Given the description of an element on the screen output the (x, y) to click on. 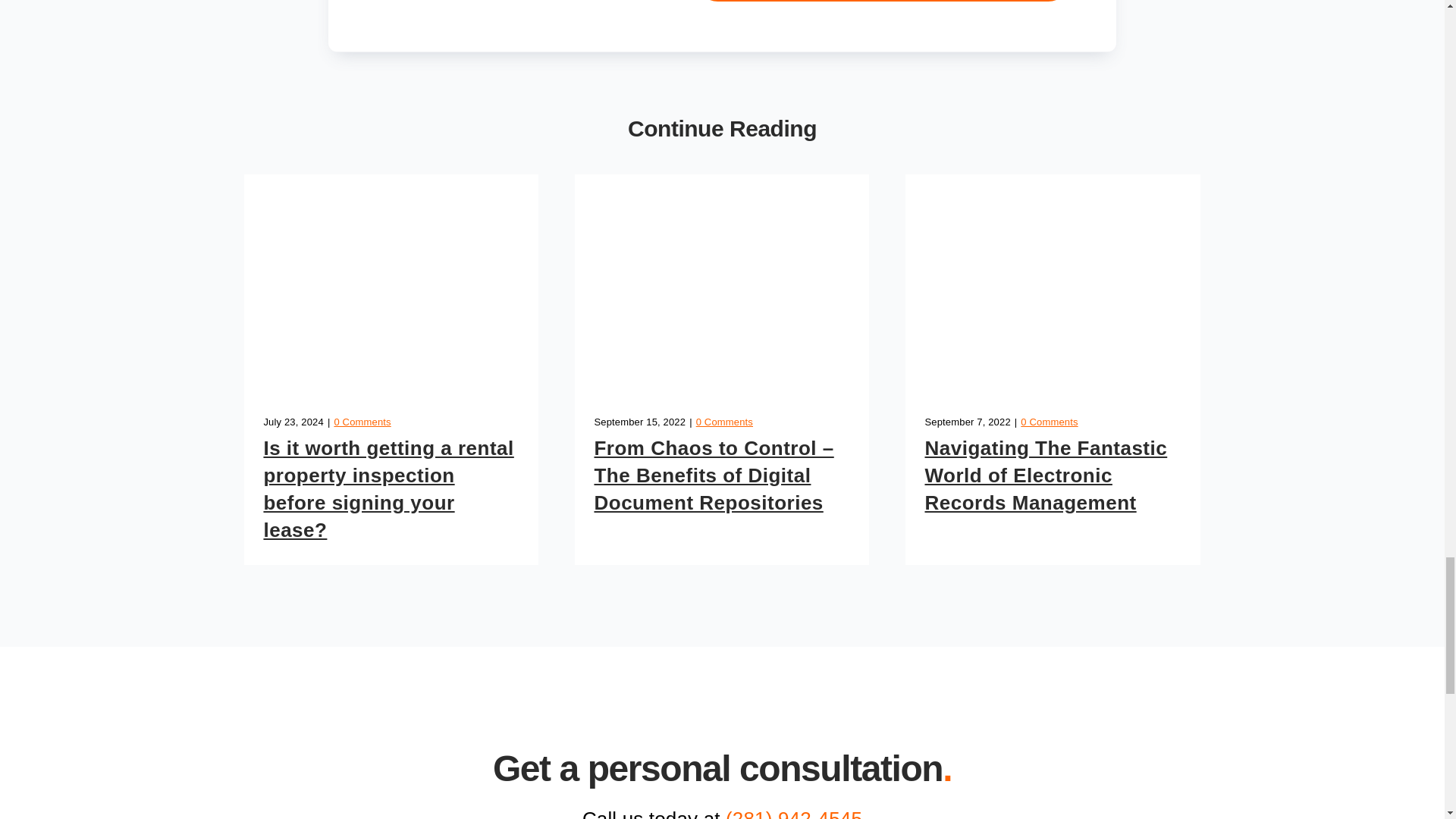
Subscribe (883, 8)
